Given the description of an element on the screen output the (x, y) to click on. 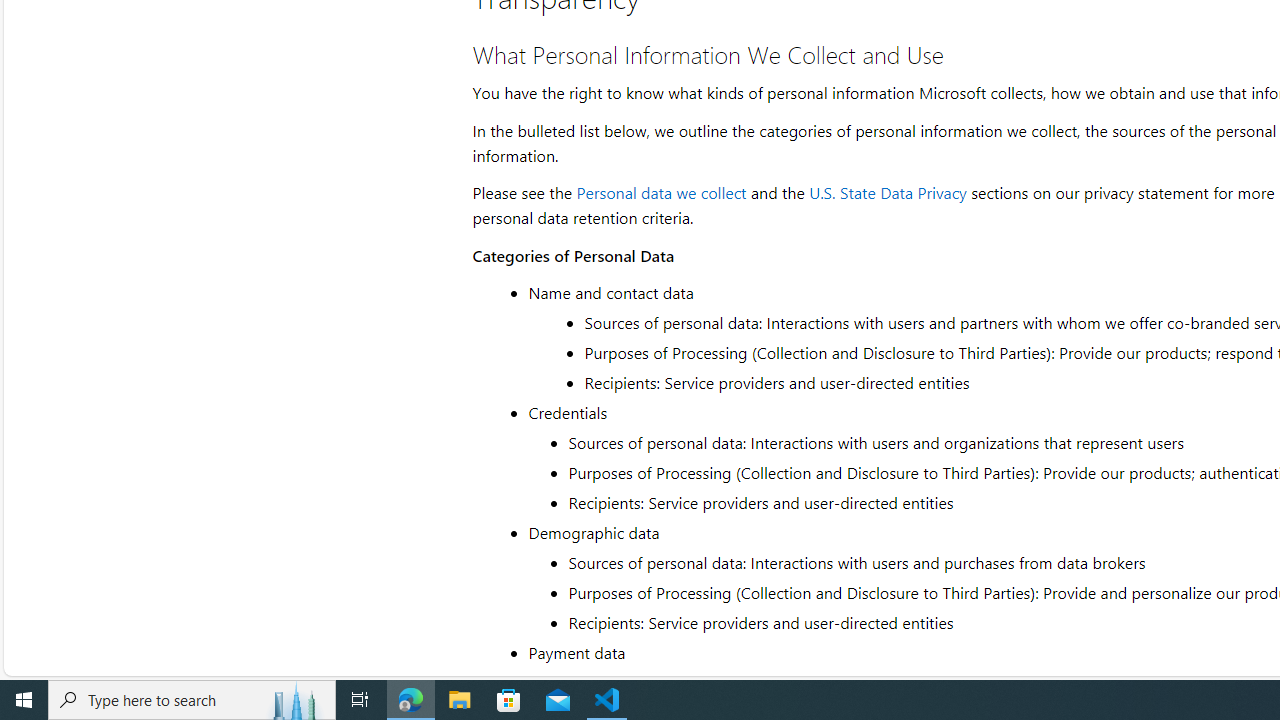
U.S. State Data Privacy (887, 192)
Personal data we collect (661, 192)
